Given the description of an element on the screen output the (x, y) to click on. 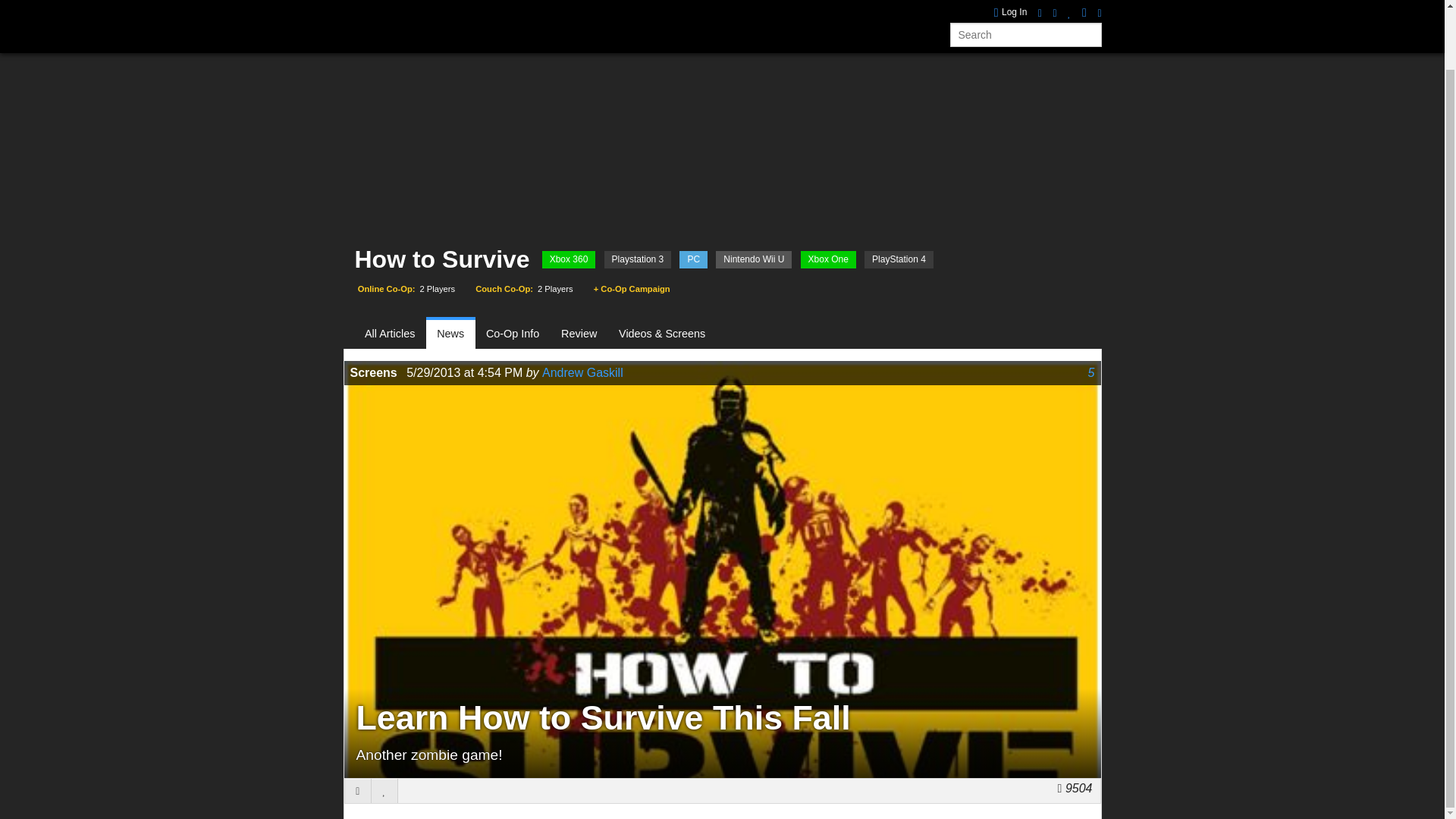
PlayStation 4 (898, 259)
Weekly Video Streams and VODs from Co-Optimus (659, 5)
Videos (584, 5)
Stream Recaps (659, 5)
News (471, 5)
Xbox 360 (568, 259)
Playstation 3 (637, 259)
All Articles (395, 334)
EDF 6 Co-Op Review (1037, 4)
PC (693, 259)
Reviews (526, 5)
Xbox One (828, 259)
Editorials (743, 5)
Co-Op Games (401, 5)
Nintendo Wii U (754, 259)
